Given the description of an element on the screen output the (x, y) to click on. 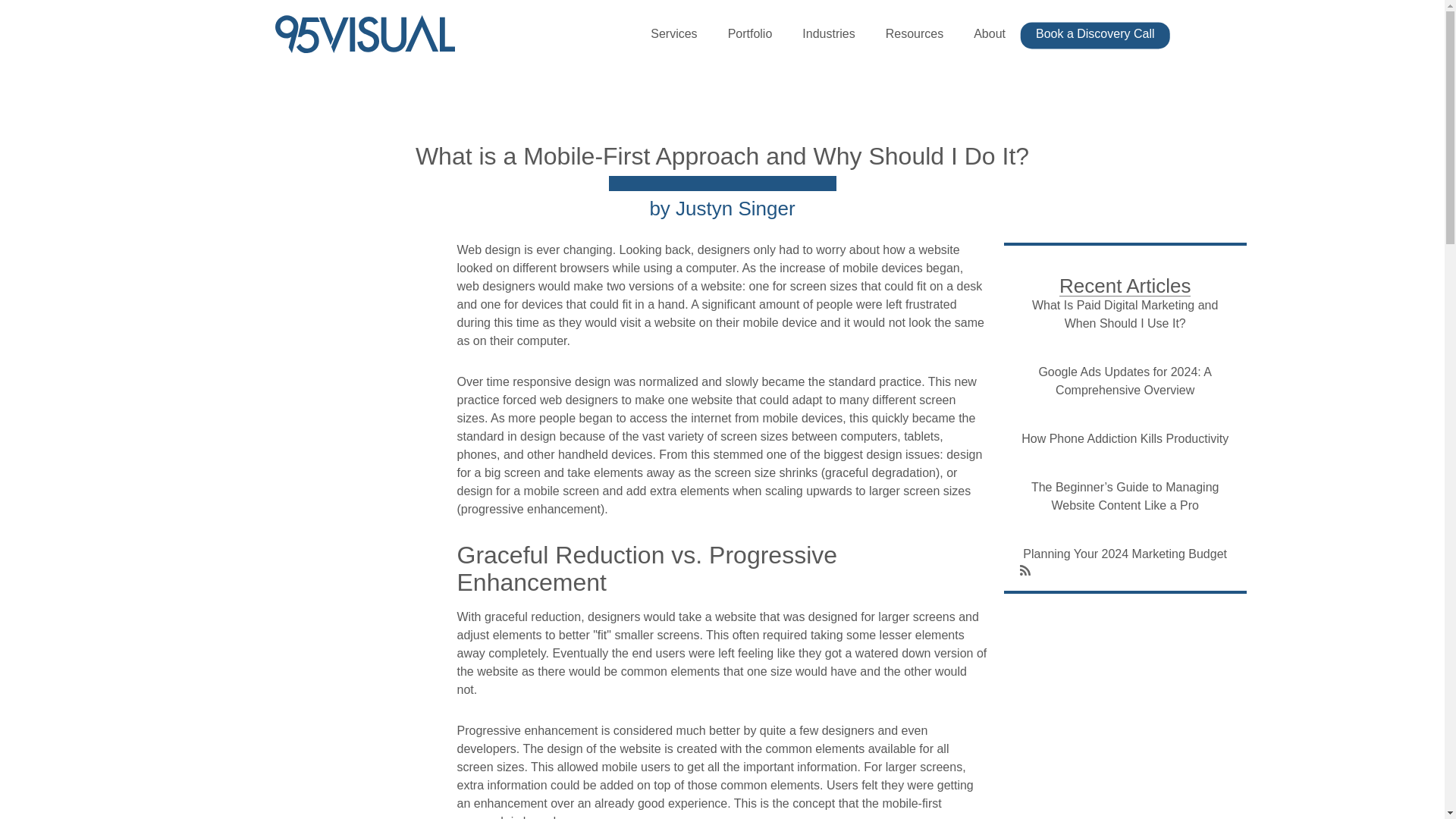
Industries (828, 33)
Home (371, 34)
Portfolio (750, 33)
Services (672, 33)
About (989, 33)
Resources (914, 33)
